Given the description of an element on the screen output the (x, y) to click on. 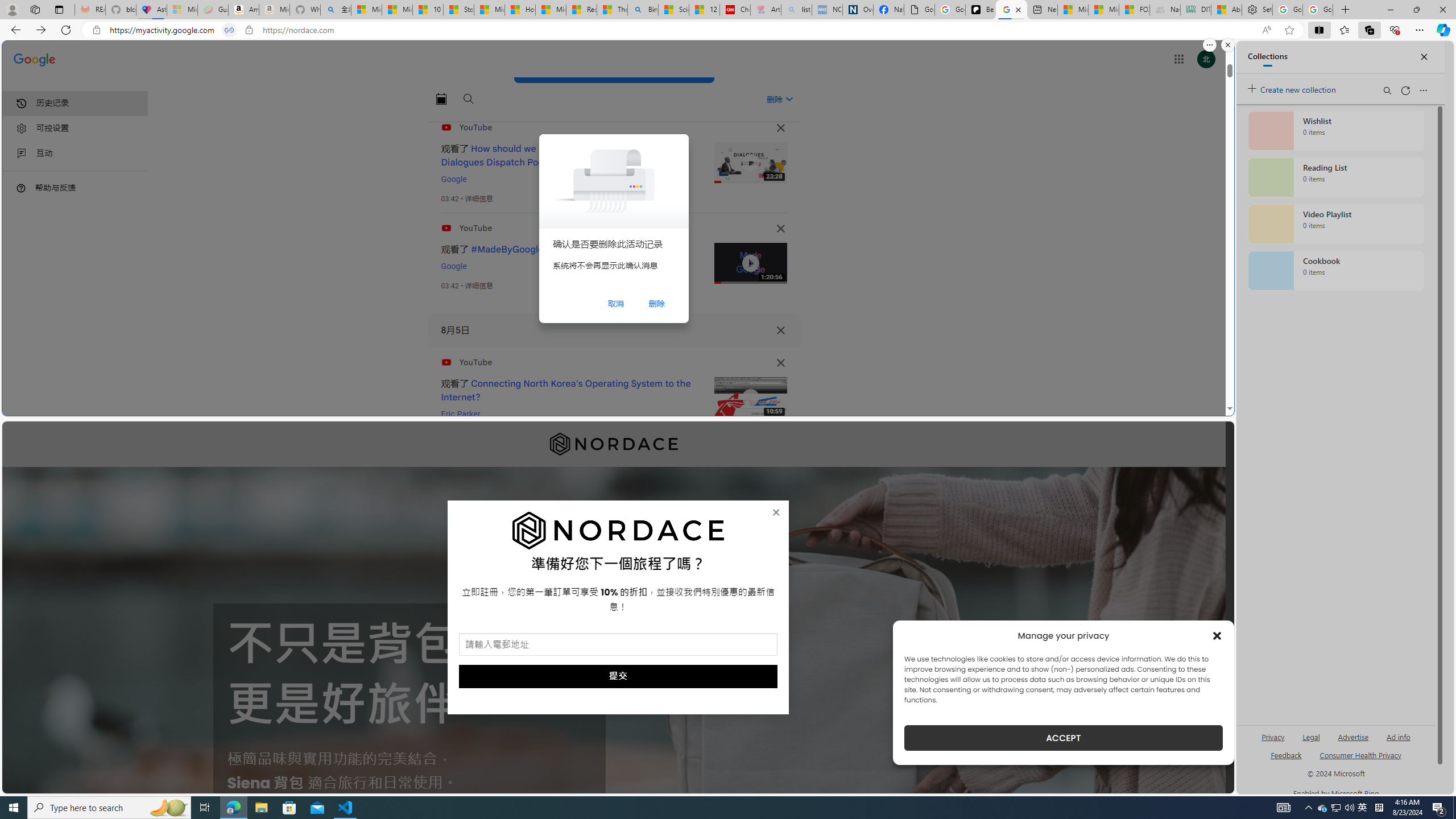
Class: cmplz-close (1217, 635)
Connecting North Korea's Operating System to the Internet? (566, 390)
Class: TjcpUd NMm5M (780, 362)
Be Smart | creating Science videos | Patreon (980, 9)
Class: IVR0f NMm5M (750, 397)
